Given the description of an element on the screen output the (x, y) to click on. 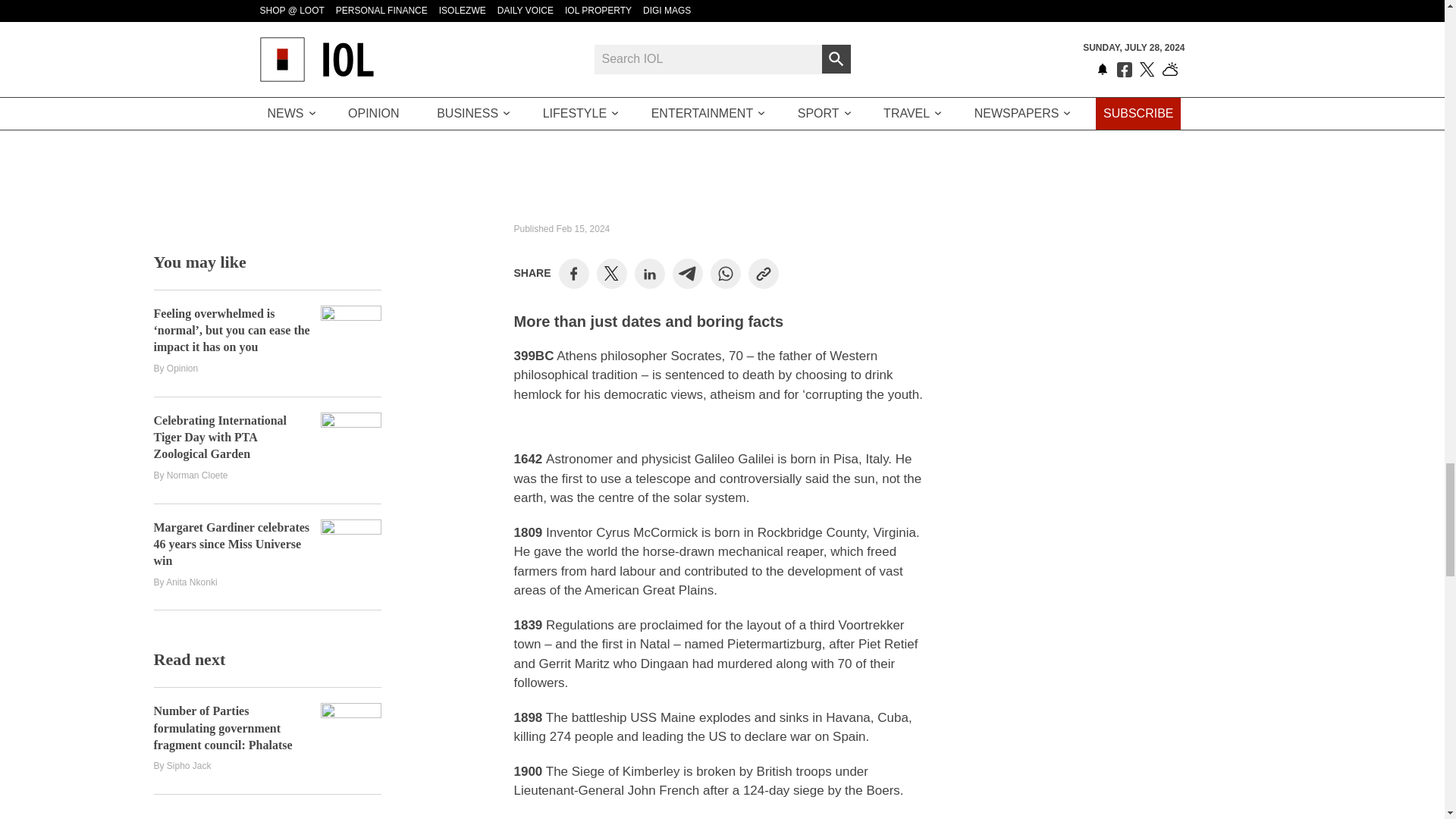
Share on LinkedIn (648, 273)
Share on Twitter (611, 273)
Share on WhatsApp (725, 273)
Copy to Clipboard (763, 273)
Share on Facebook (573, 273)
Share on Telegram (686, 273)
